Given the description of an element on the screen output the (x, y) to click on. 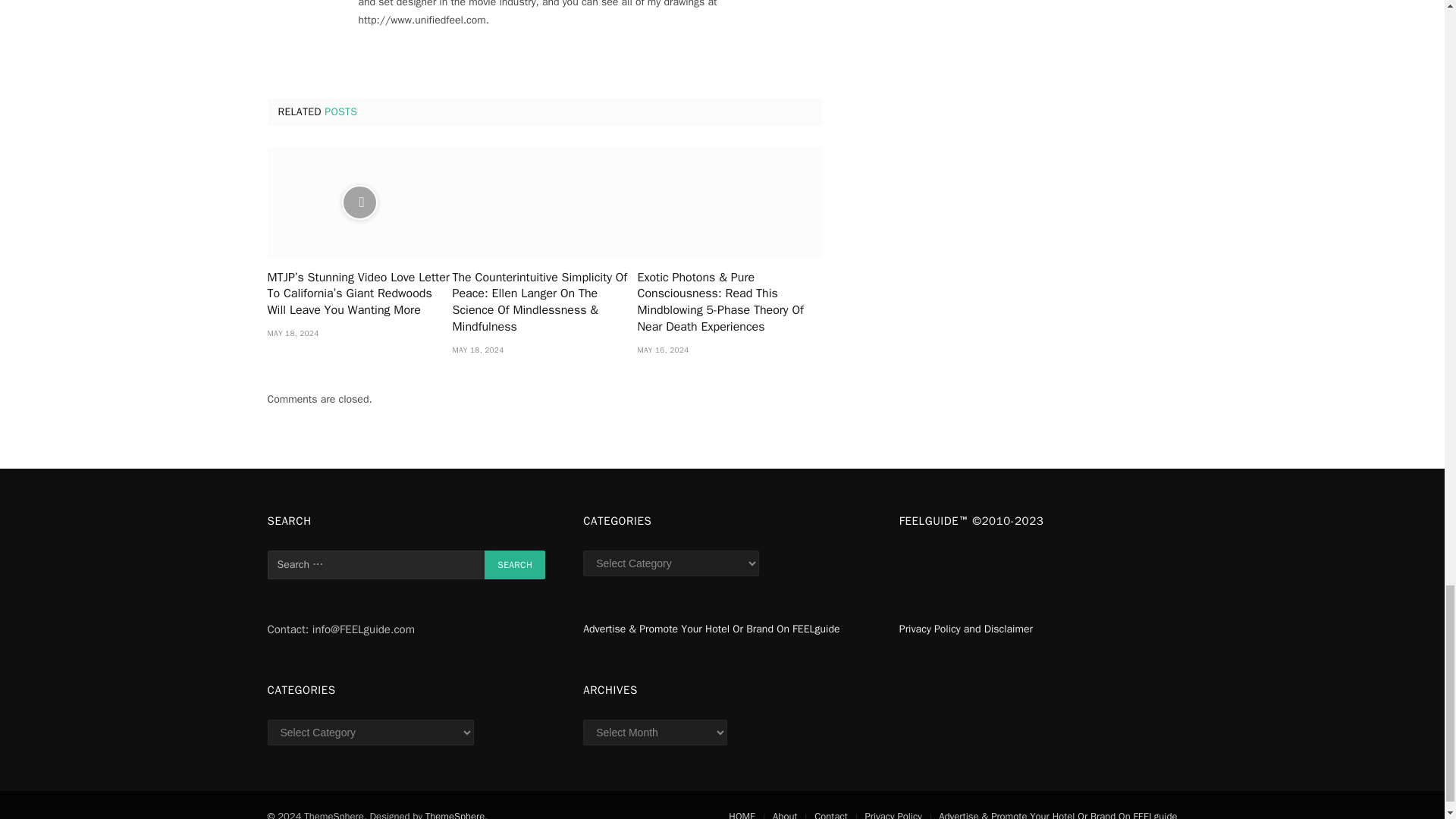
Search (514, 564)
Search (514, 564)
